Given the description of an element on the screen output the (x, y) to click on. 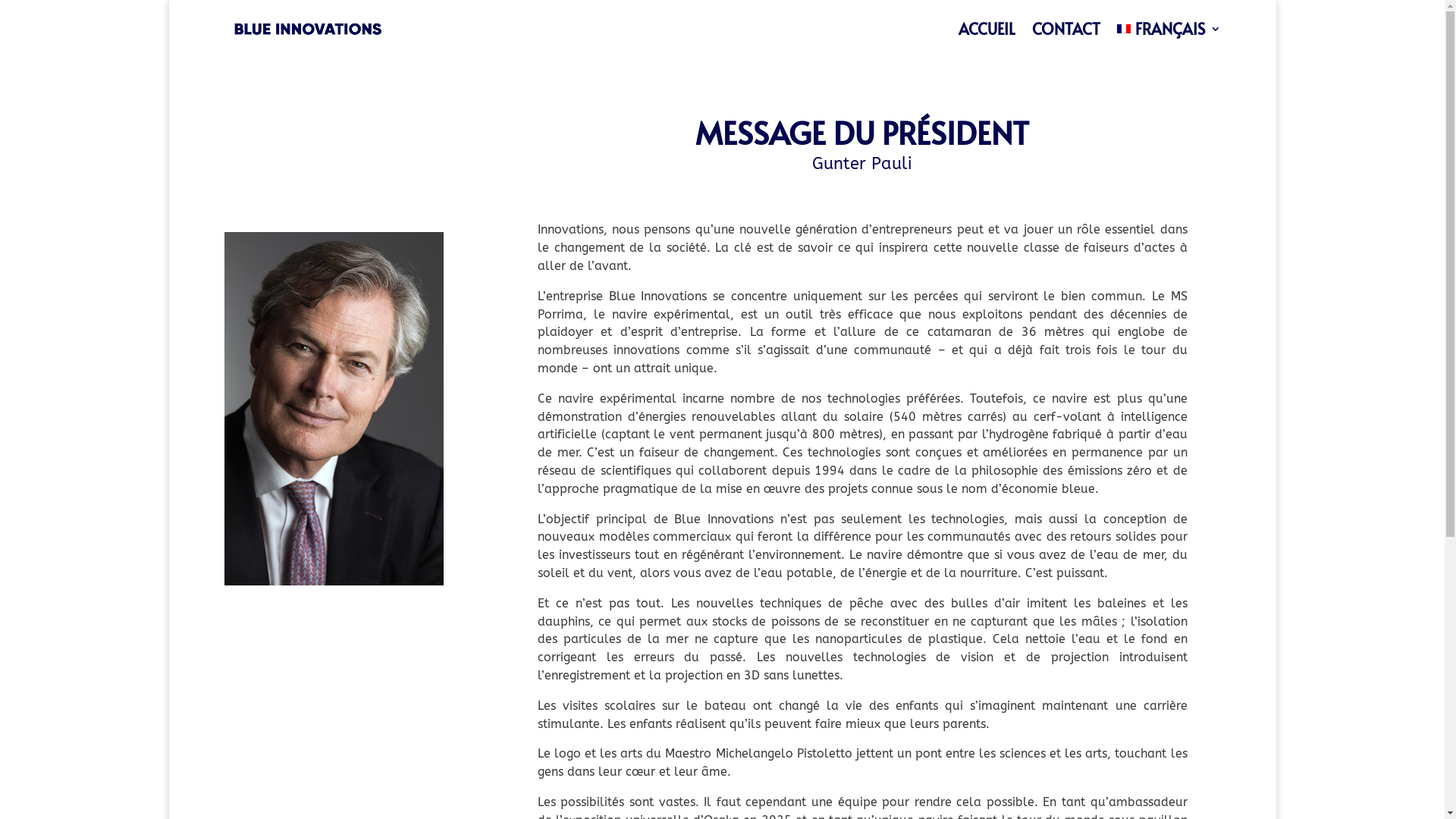
Gunter-Pauli-photo_ Element type: hover (334, 408)
ACCUEIL Element type: text (986, 28)
CONTACT Element type: text (1065, 28)
